Given the description of an element on the screen output the (x, y) to click on. 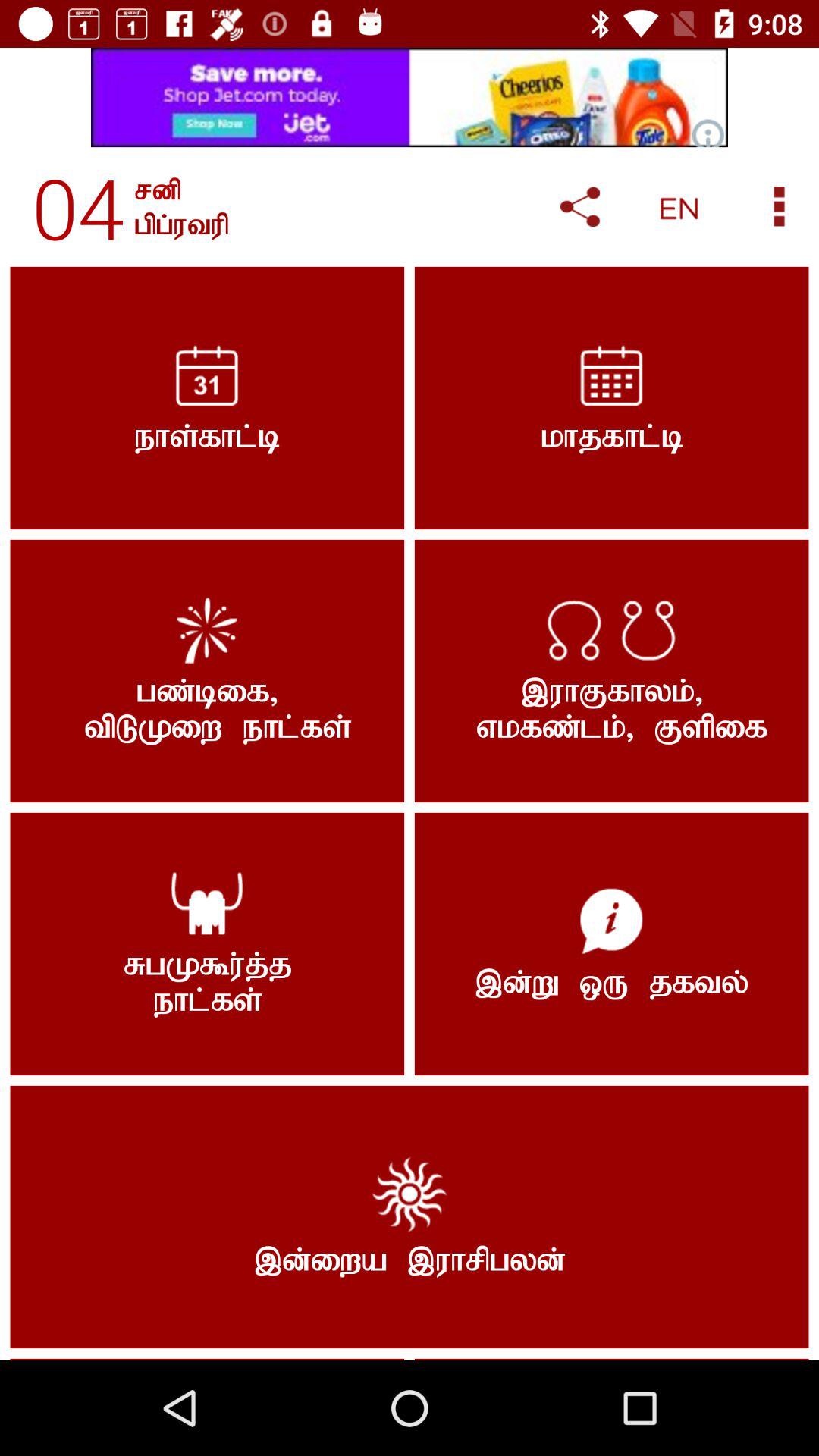
share link (579, 206)
